Given the description of an element on the screen output the (x, y) to click on. 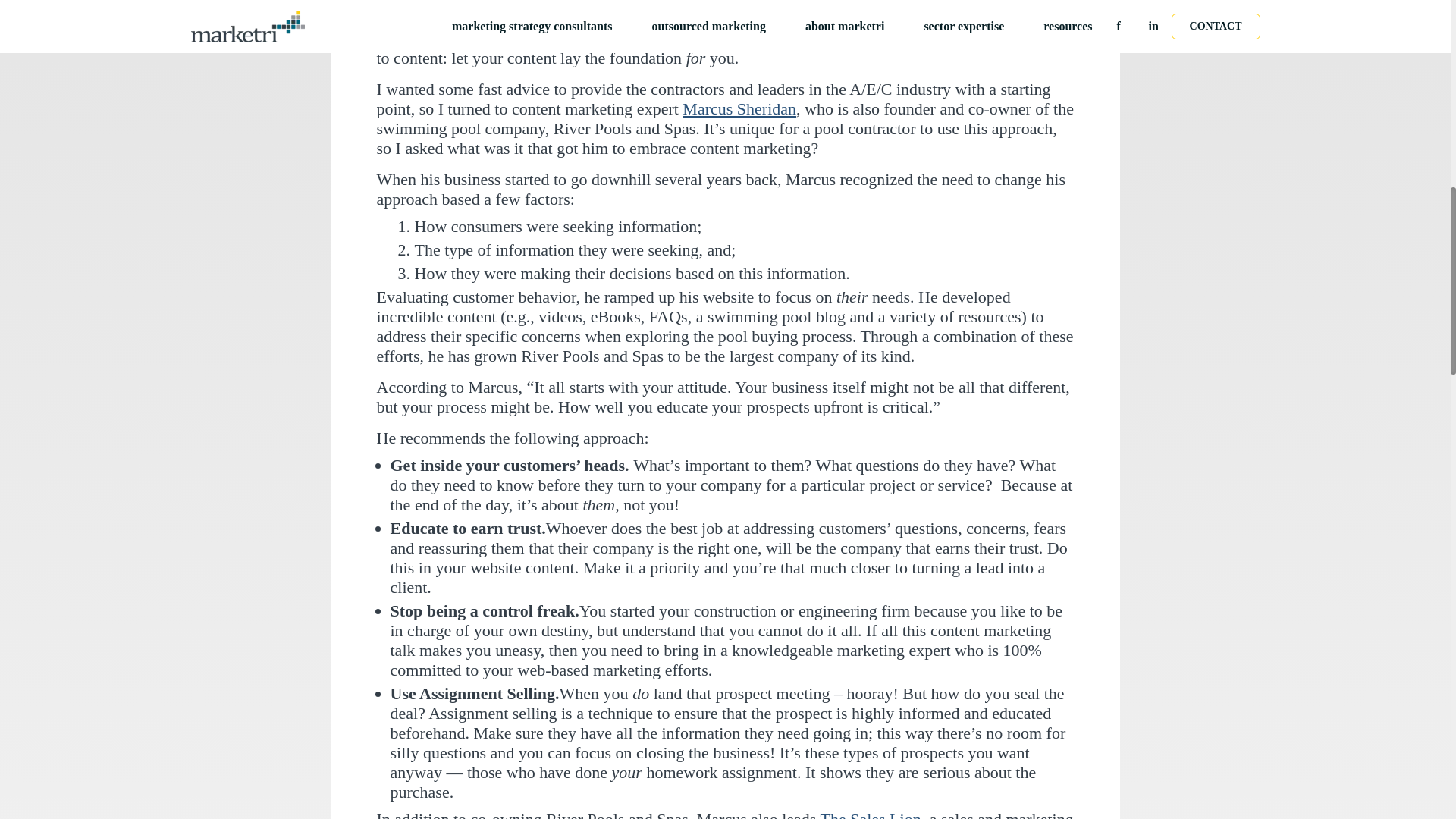
Marcus Sheridan (739, 108)
The Sales Lion (869, 814)
